Given the description of an element on the screen output the (x, y) to click on. 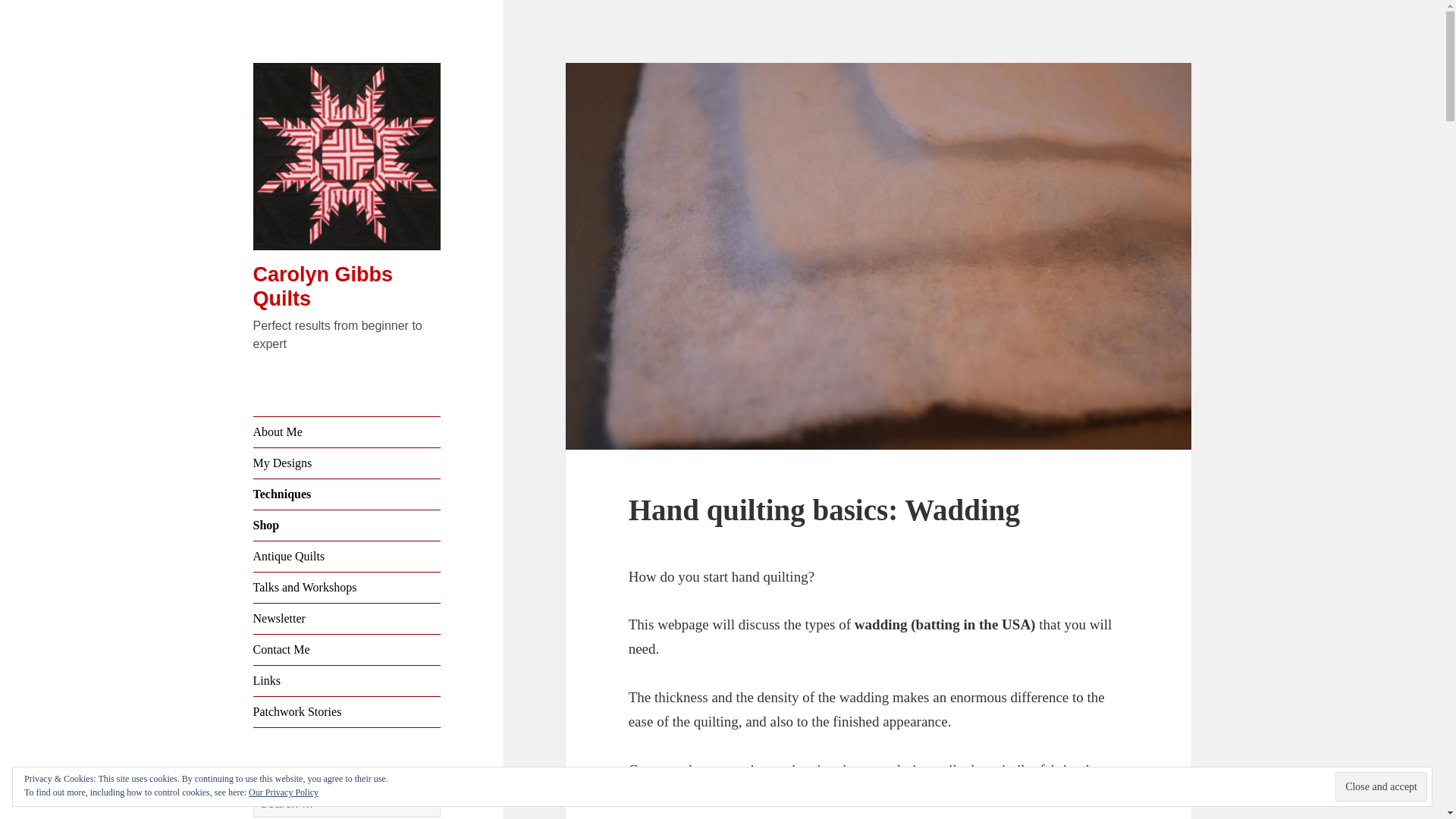
Close and accept (1380, 786)
My Designs (347, 462)
Techniques (347, 494)
About Me (347, 431)
Carolyn Gibbs Quilts (323, 286)
